Given the description of an element on the screen output the (x, y) to click on. 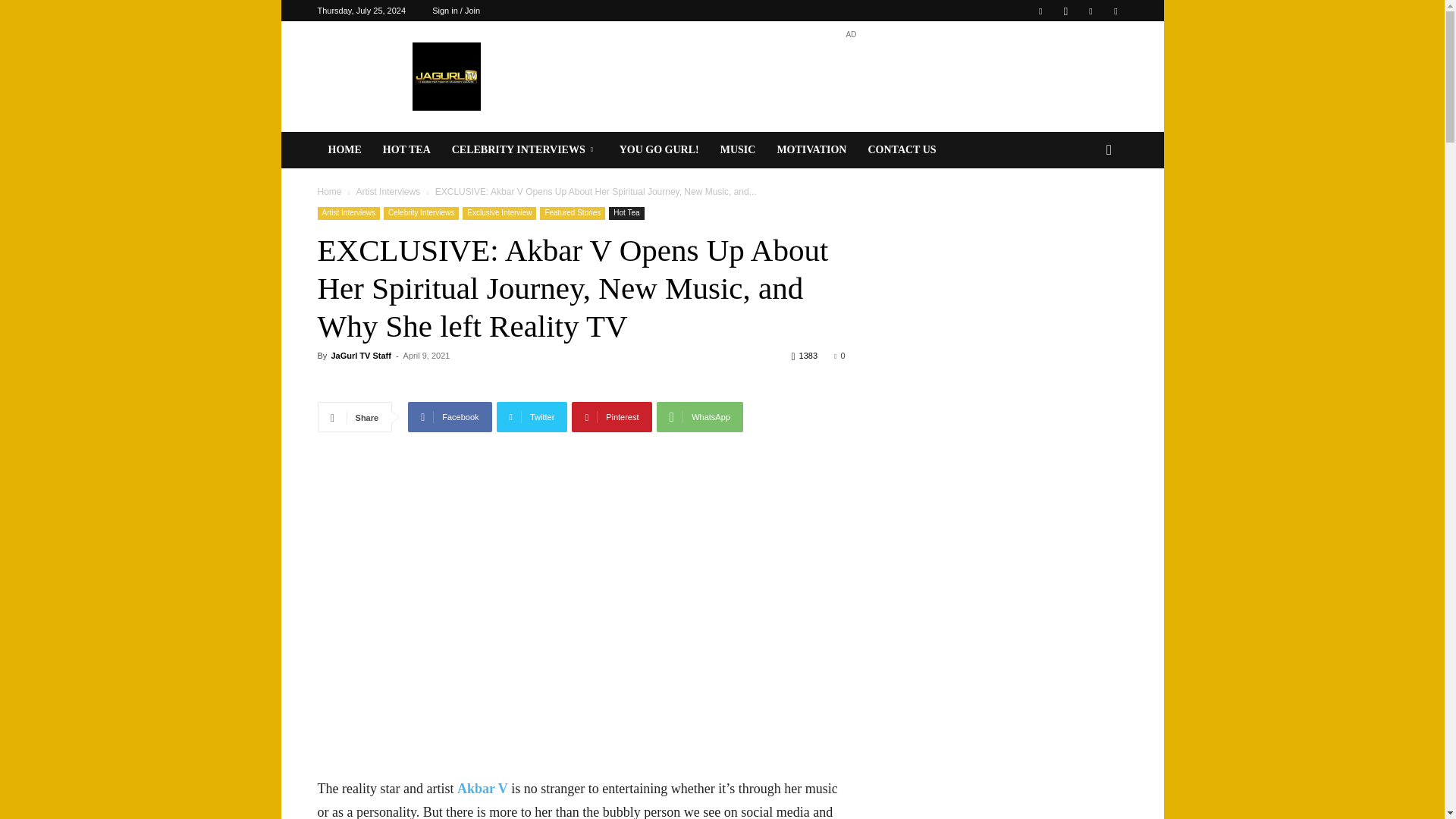
Instagram (1065, 10)
Youtube (1114, 10)
Twitter (1090, 10)
Advertisement (850, 76)
View all posts in Artist Interviews (387, 191)
Twitter (531, 417)
Facebook (1040, 10)
Pinterest (611, 417)
HOT TEA (406, 149)
HOME (344, 149)
WhatsApp (699, 417)
CELEBRITY INTERVIEWS (524, 149)
Facebook (449, 417)
